Given the description of an element on the screen output the (x, y) to click on. 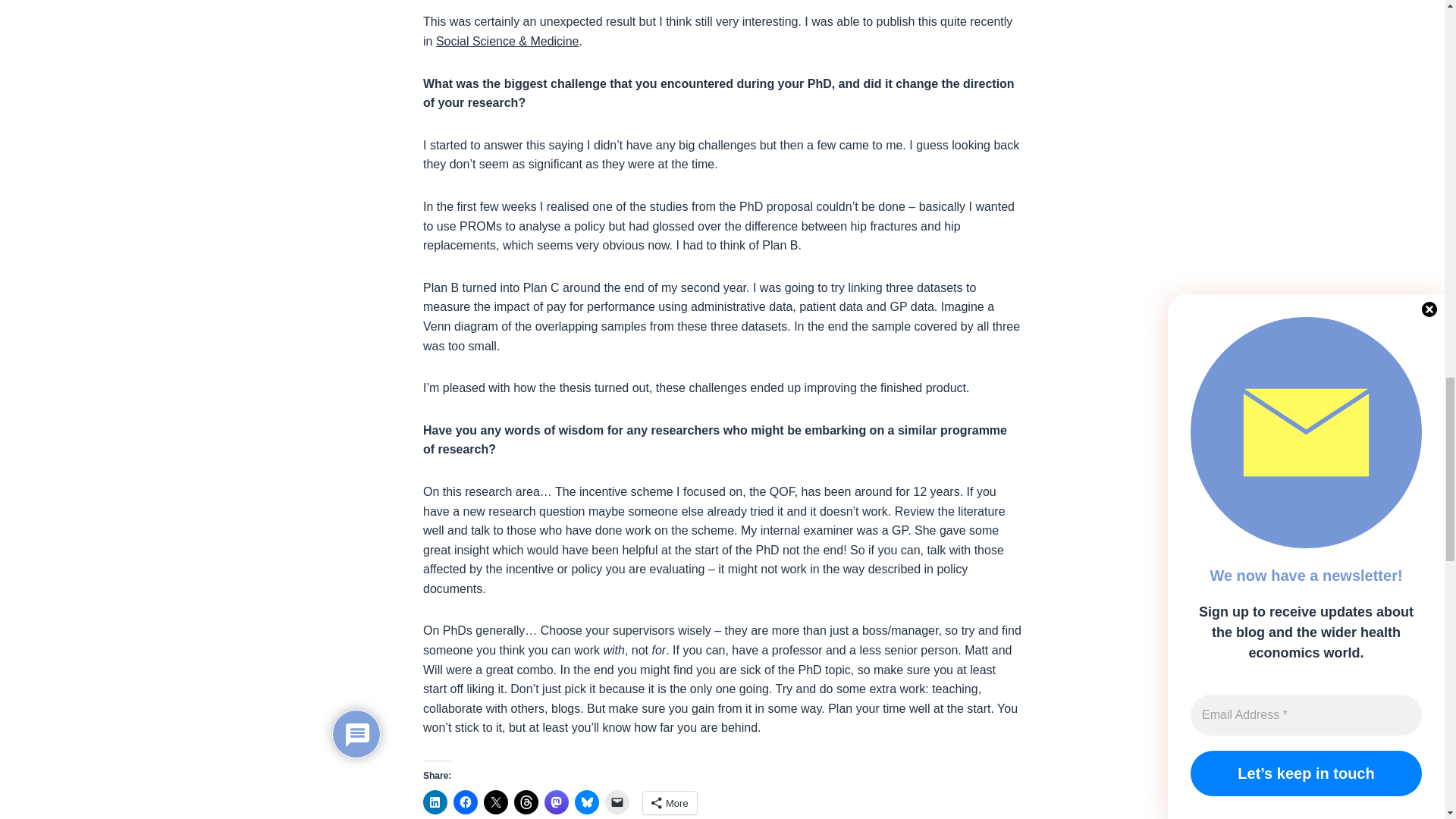
Click to share on LinkedIn (434, 802)
Click to share on Bluesky (586, 802)
Click to share on Threads (525, 802)
Click to email a link to a friend (616, 802)
Click to share on Mastodon (556, 802)
Click to share on X (495, 802)
Click to share on Facebook (464, 802)
